Given the description of an element on the screen output the (x, y) to click on. 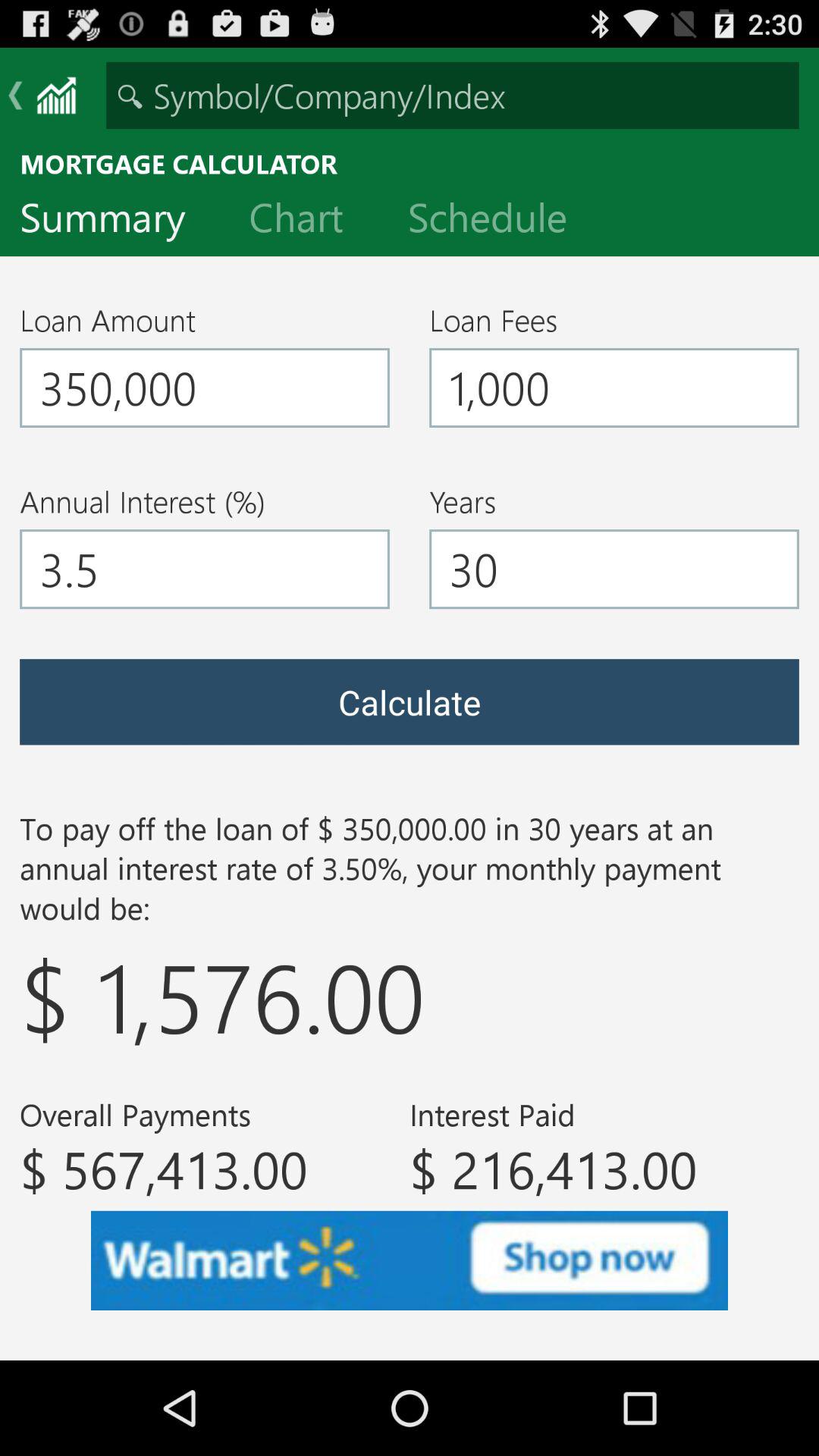
search box to type in symbol/company/index (452, 95)
